Given the description of an element on the screen output the (x, y) to click on. 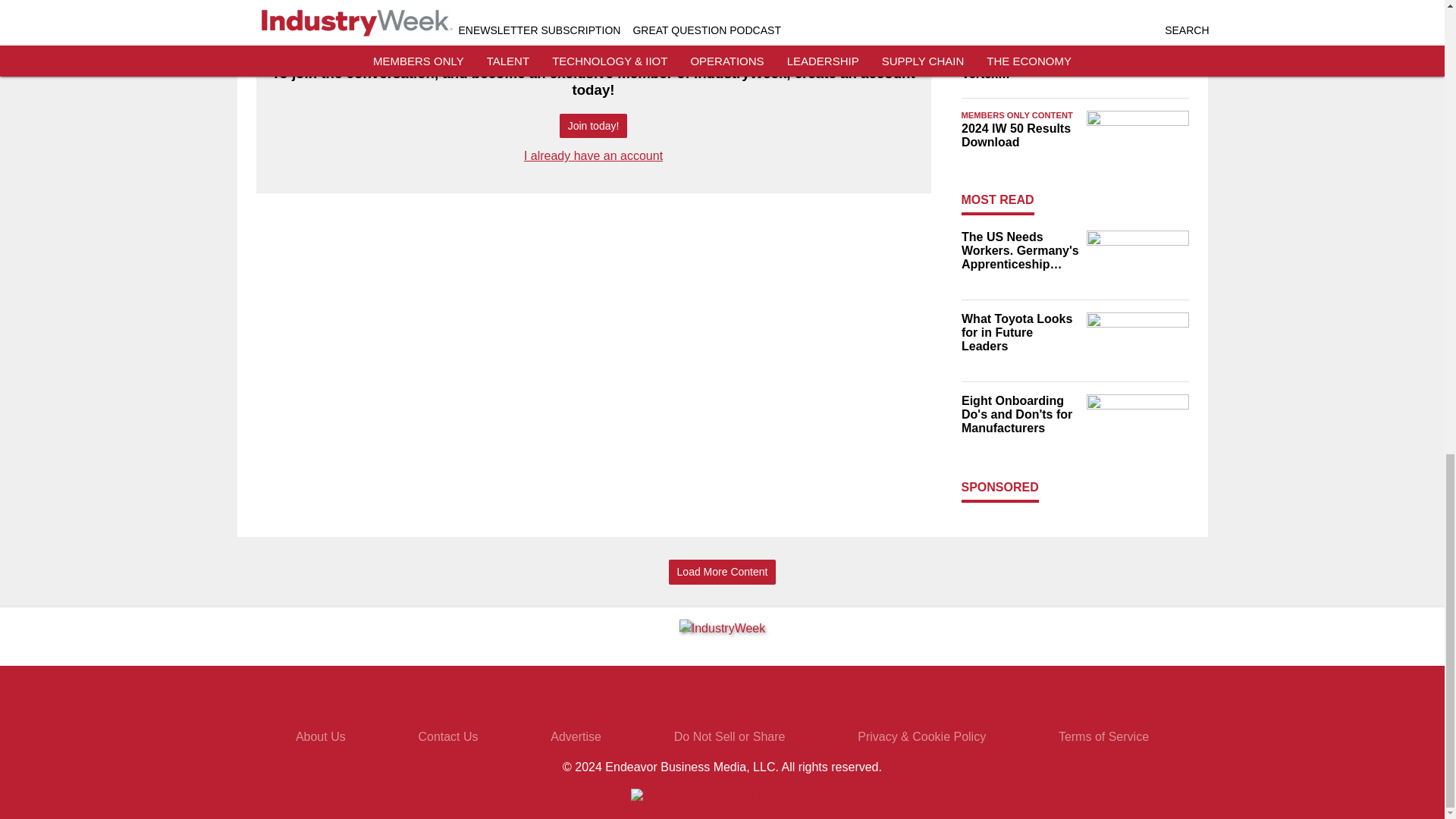
I already have an account (593, 155)
Join today! (593, 125)
2024 IW 50 Results Download (1019, 135)
